Given the description of an element on the screen output the (x, y) to click on. 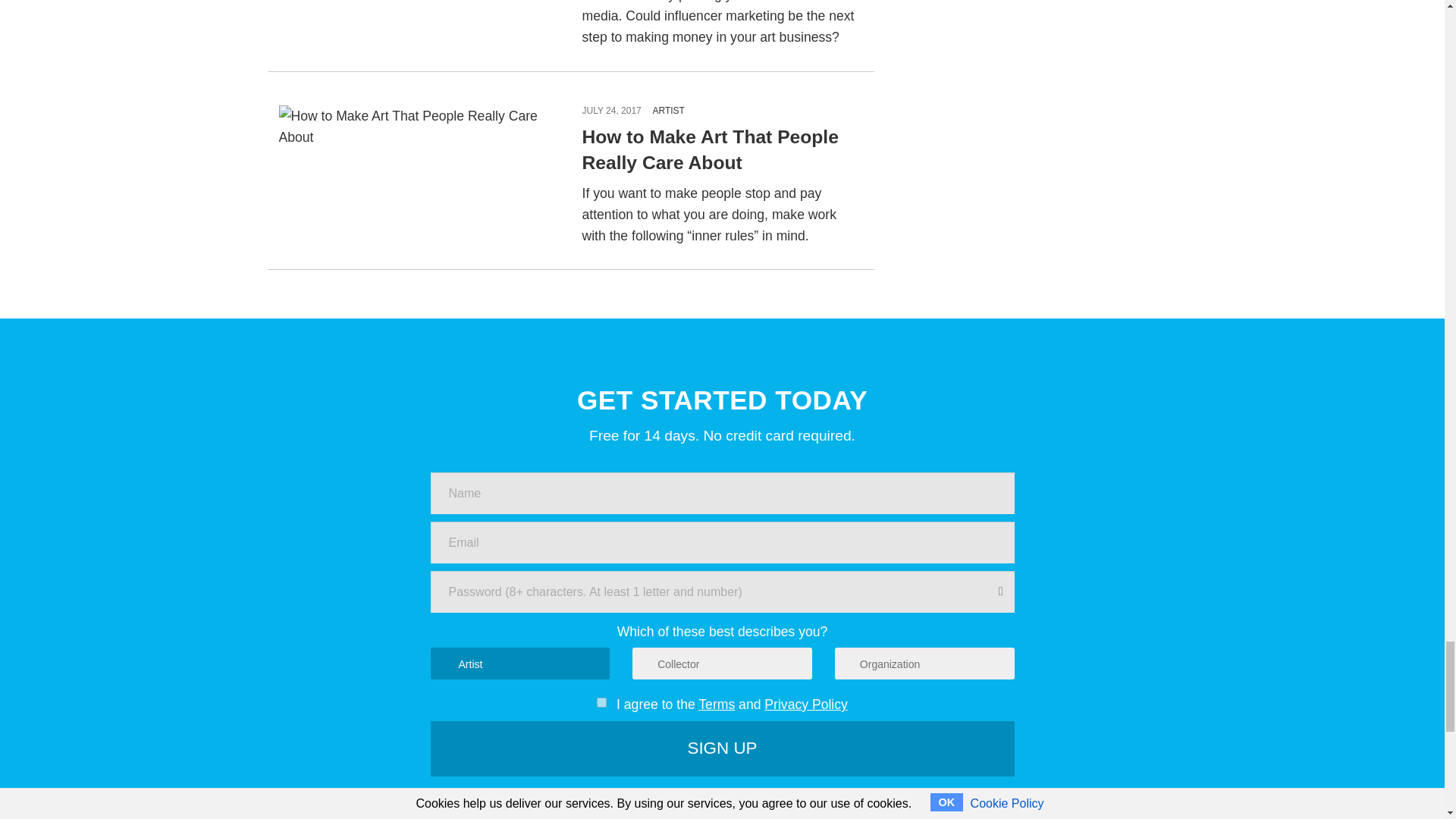
SIGN UP (722, 749)
1 (601, 702)
